Given the description of an element on the screen output the (x, y) to click on. 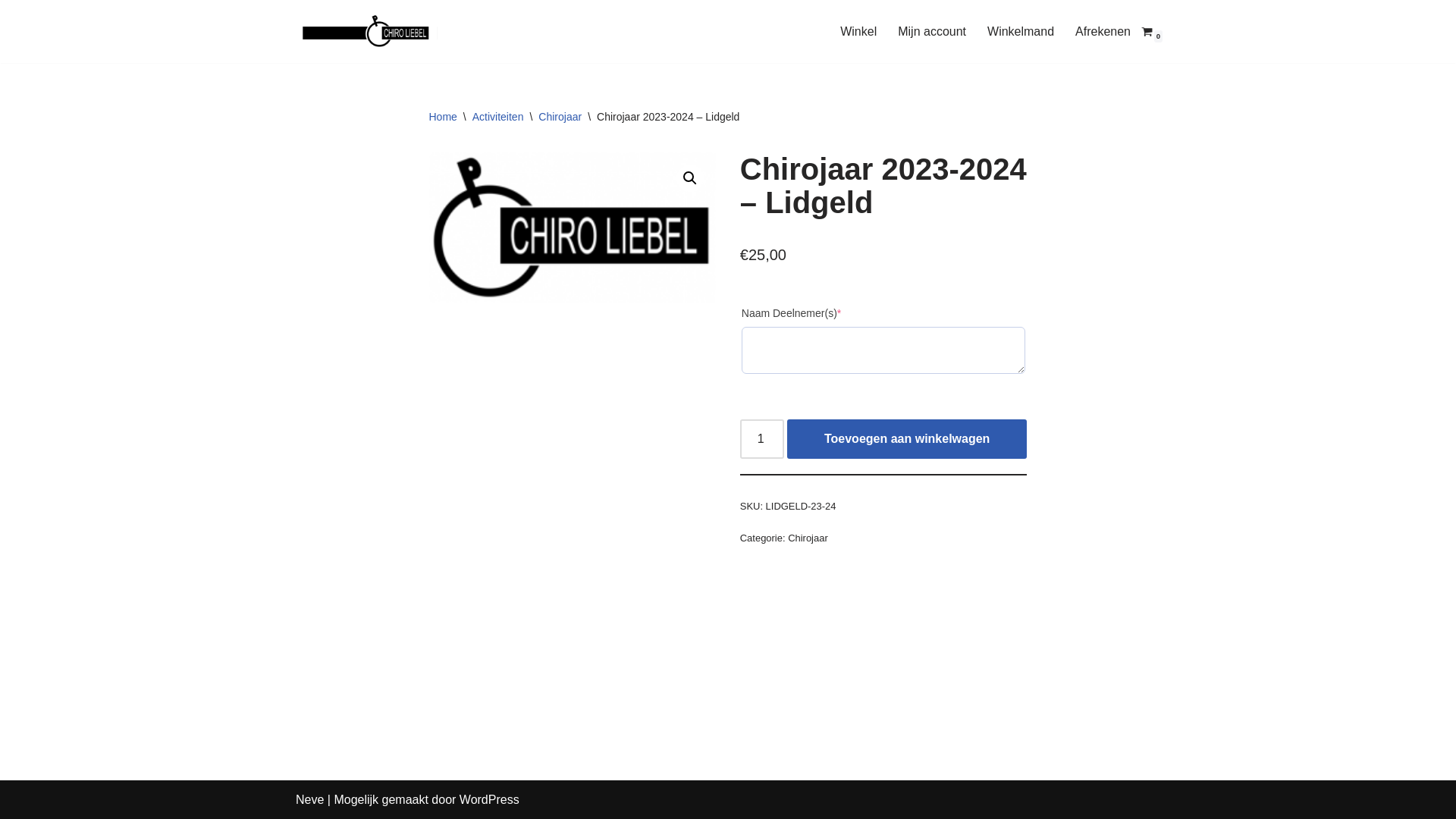
Afrekenen Element type: text (1102, 31)
Home Element type: text (443, 116)
Activiteiten Element type: text (498, 116)
Winkelmand Element type: text (1020, 31)
Mijn account Element type: text (931, 31)
Toevoegen aan winkelwagen Element type: text (907, 438)
Chirojaar Element type: text (559, 116)
Winkel Element type: text (858, 31)
0 Element type: text (1146, 31)
WordPress Element type: text (489, 799)
Neve Element type: text (309, 799)
Chirojaar Element type: text (807, 537)
2021-08-09 12_27_17-Bestelling Pulls Liebel Element type: hover (572, 227)
Spring naar de inhoud Element type: text (11, 31)
